Given the description of an element on the screen output the (x, y) to click on. 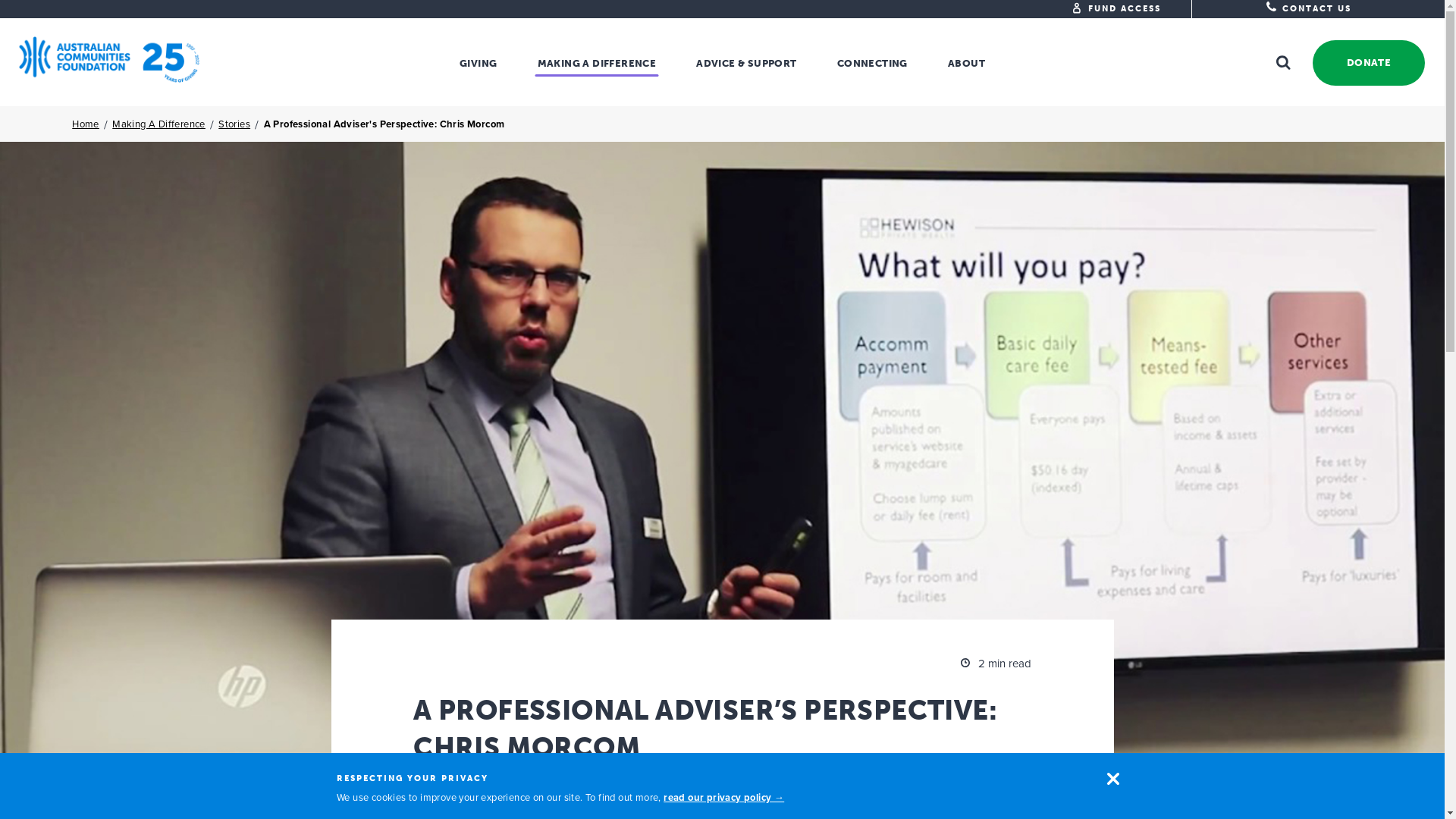
CONTACT US Element type: text (1308, 9)
Stories Element type: text (234, 123)
Home Element type: text (85, 123)
FUND ACCESS Element type: text (1125, 9)
A Professional Adviser's Perspective: Chris Morcom Element type: text (384, 123)
DONATE Element type: text (1365, 62)
Making A Difference Element type: text (158, 123)
